Given the description of an element on the screen output the (x, y) to click on. 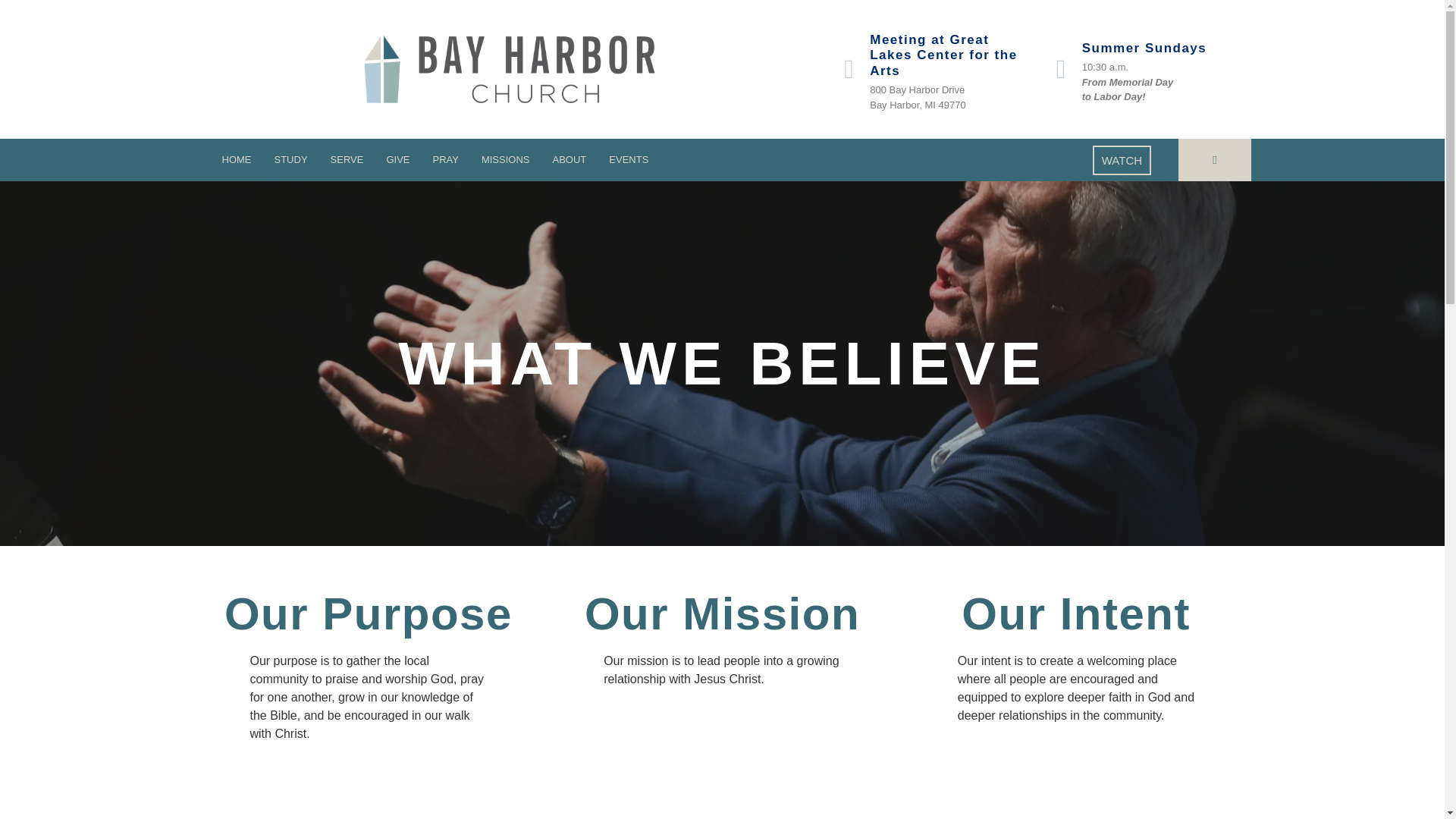
WATCH (1122, 160)
SERVE (346, 159)
Meeting at Great Lakes Center for the Arts (942, 54)
PRAY (444, 159)
HOME (237, 159)
ABOUT (569, 159)
STUDY (290, 159)
GIVE (397, 159)
EVENTS (627, 159)
MISSIONS (505, 159)
